Given the description of an element on the screen output the (x, y) to click on. 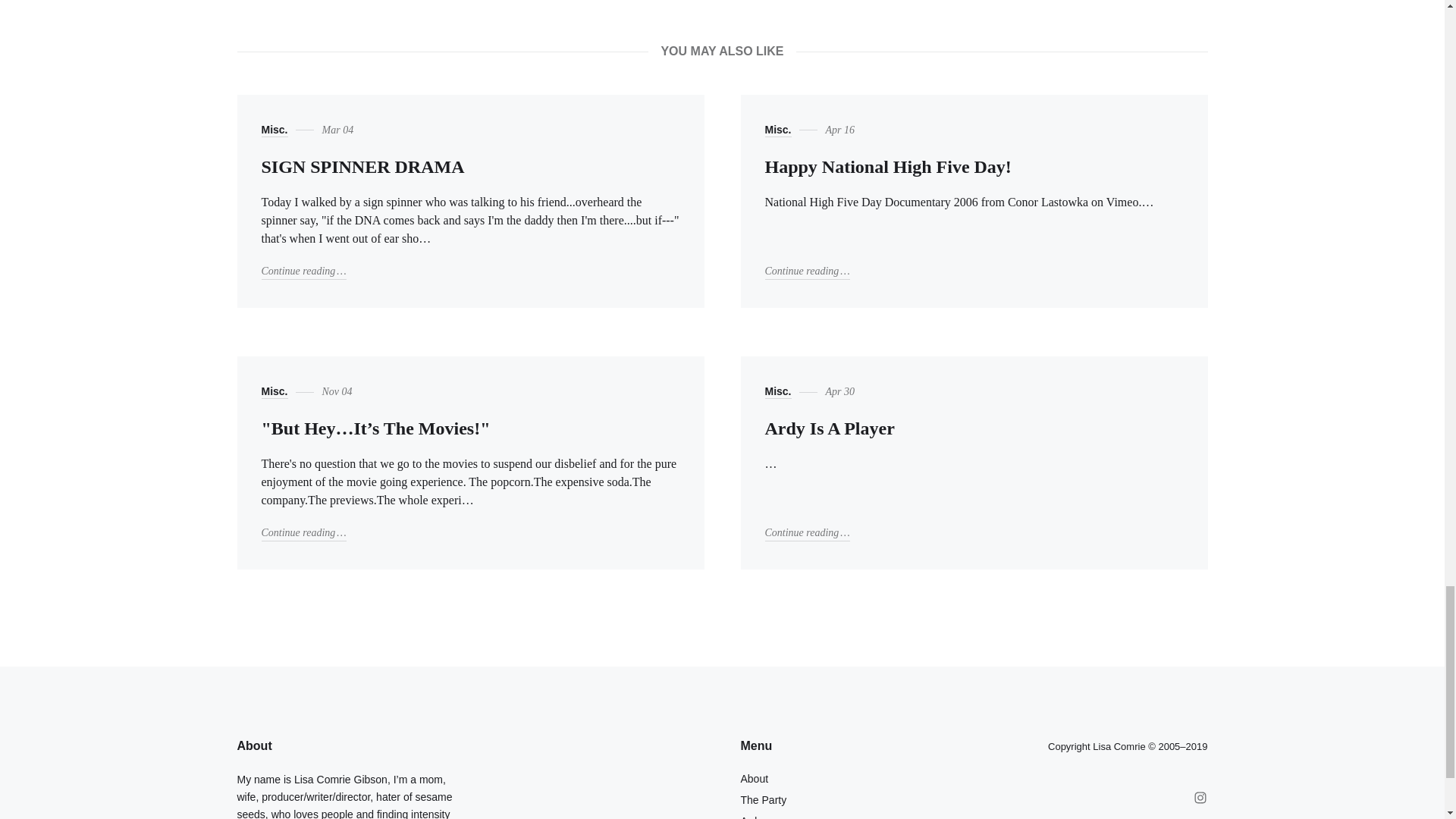
Misc. (273, 391)
SIGN SPINNER DRAMA (362, 166)
Misc. (273, 130)
Ardy Is A Player (828, 428)
Instagram (1199, 797)
Ardy (750, 816)
Apr 16 (806, 271)
Misc. (840, 129)
Apr 30 (777, 391)
